Given the description of an element on the screen output the (x, y) to click on. 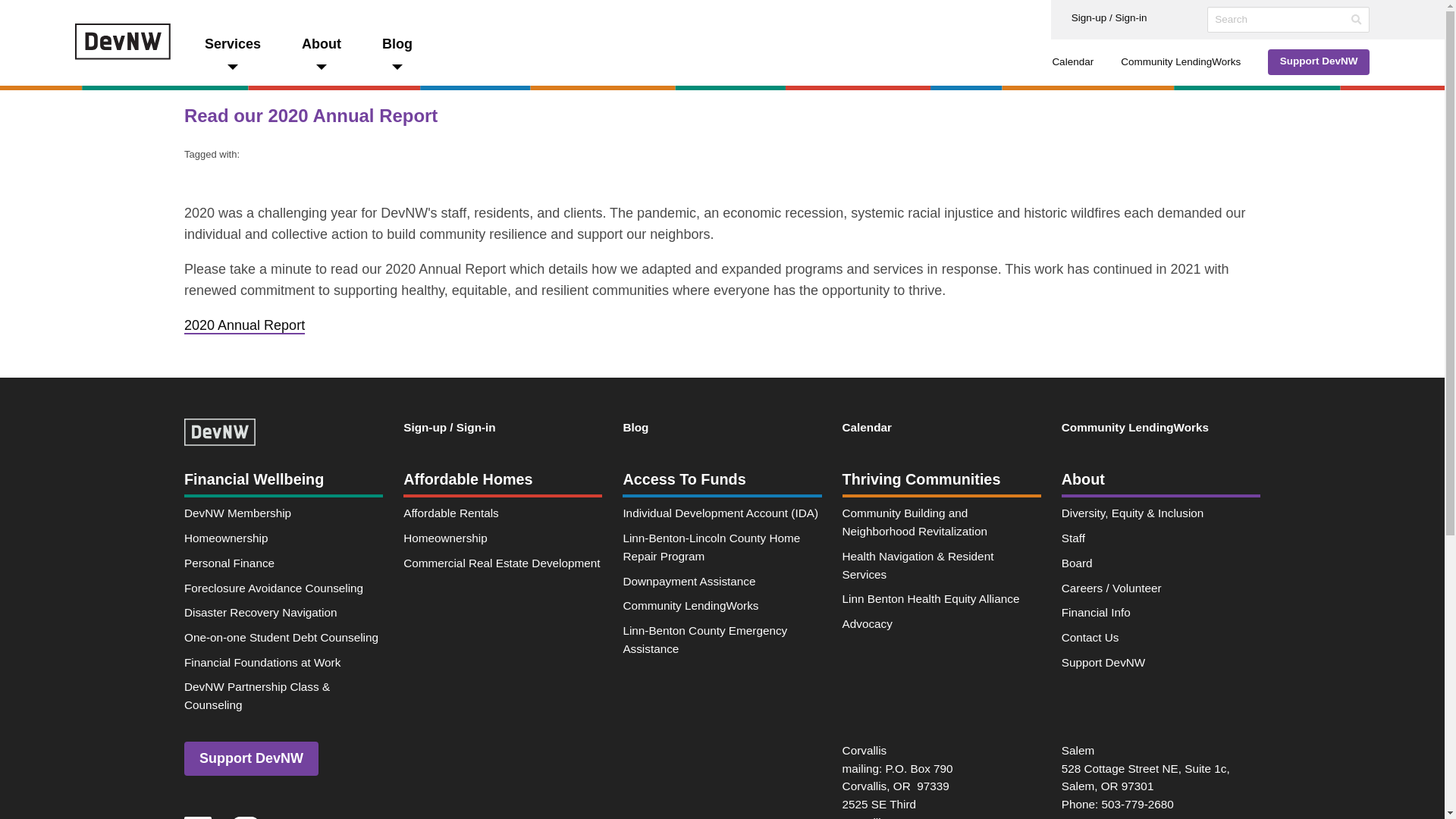
Community LendingWorks (1180, 62)
Support DevNW (1319, 62)
Blog (396, 55)
Calendar (1072, 62)
About (321, 55)
Services (232, 55)
